Given the description of an element on the screen output the (x, y) to click on. 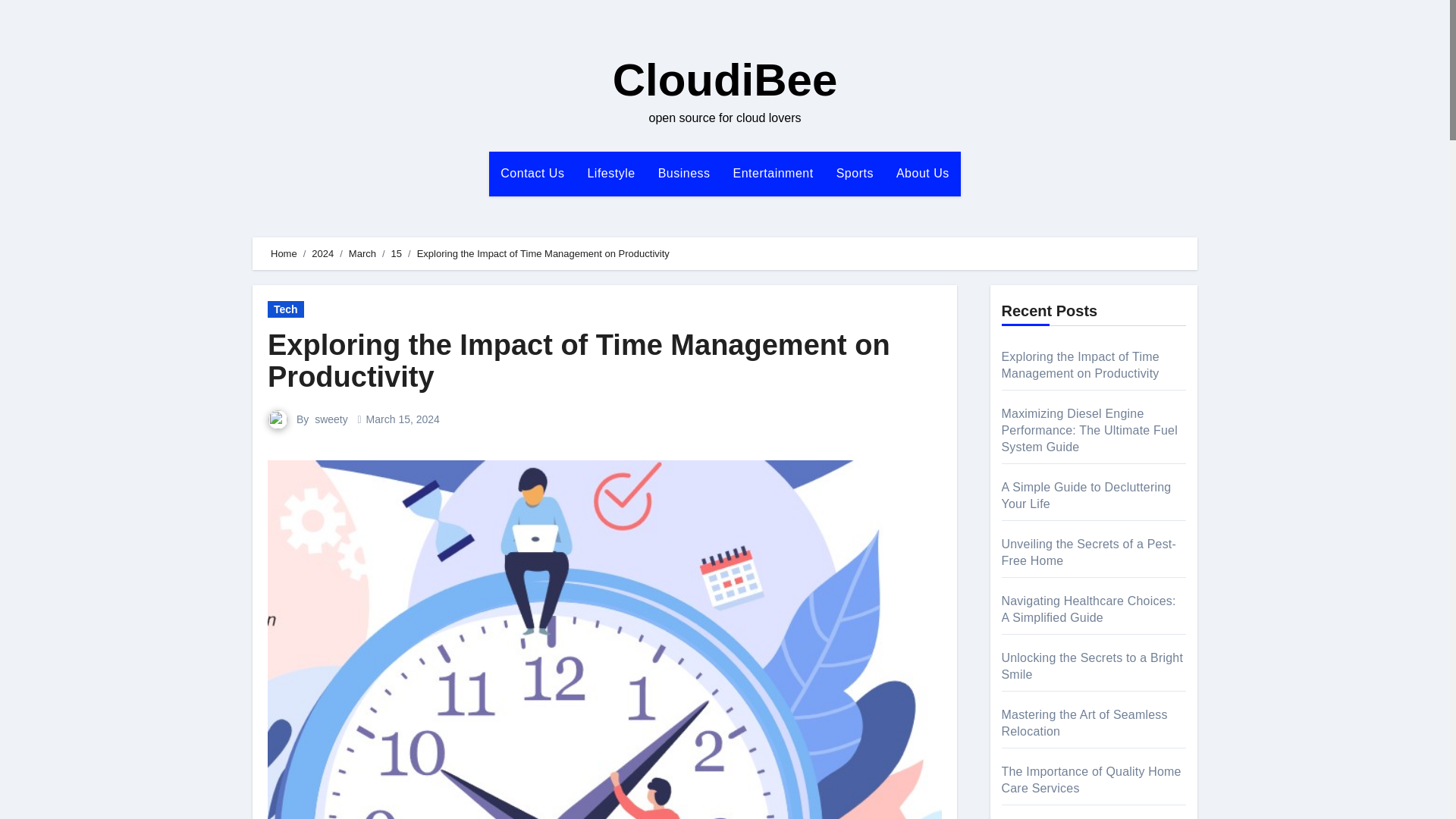
About Us (922, 173)
Entertainment (773, 173)
March 15, 2024 (402, 419)
March (362, 253)
Entertainment (773, 173)
Business (684, 173)
About Us (922, 173)
Sports (855, 173)
Lifestyle (610, 173)
Exploring the Impact of Time Management on Productivity (578, 361)
Sports (855, 173)
sweety (332, 419)
15 (396, 253)
2024 (322, 253)
